Given the description of an element on the screen output the (x, y) to click on. 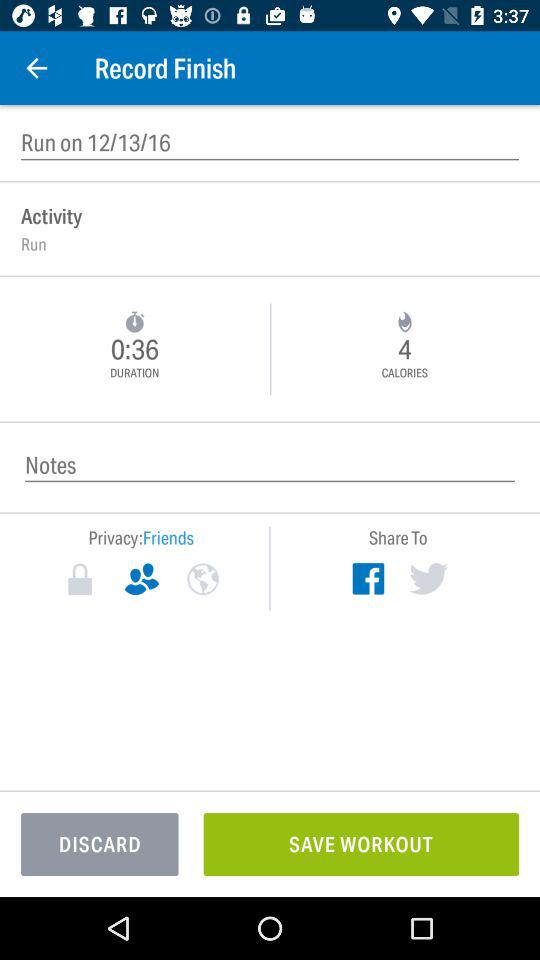
select save workout (361, 844)
